Given the description of an element on the screen output the (x, y) to click on. 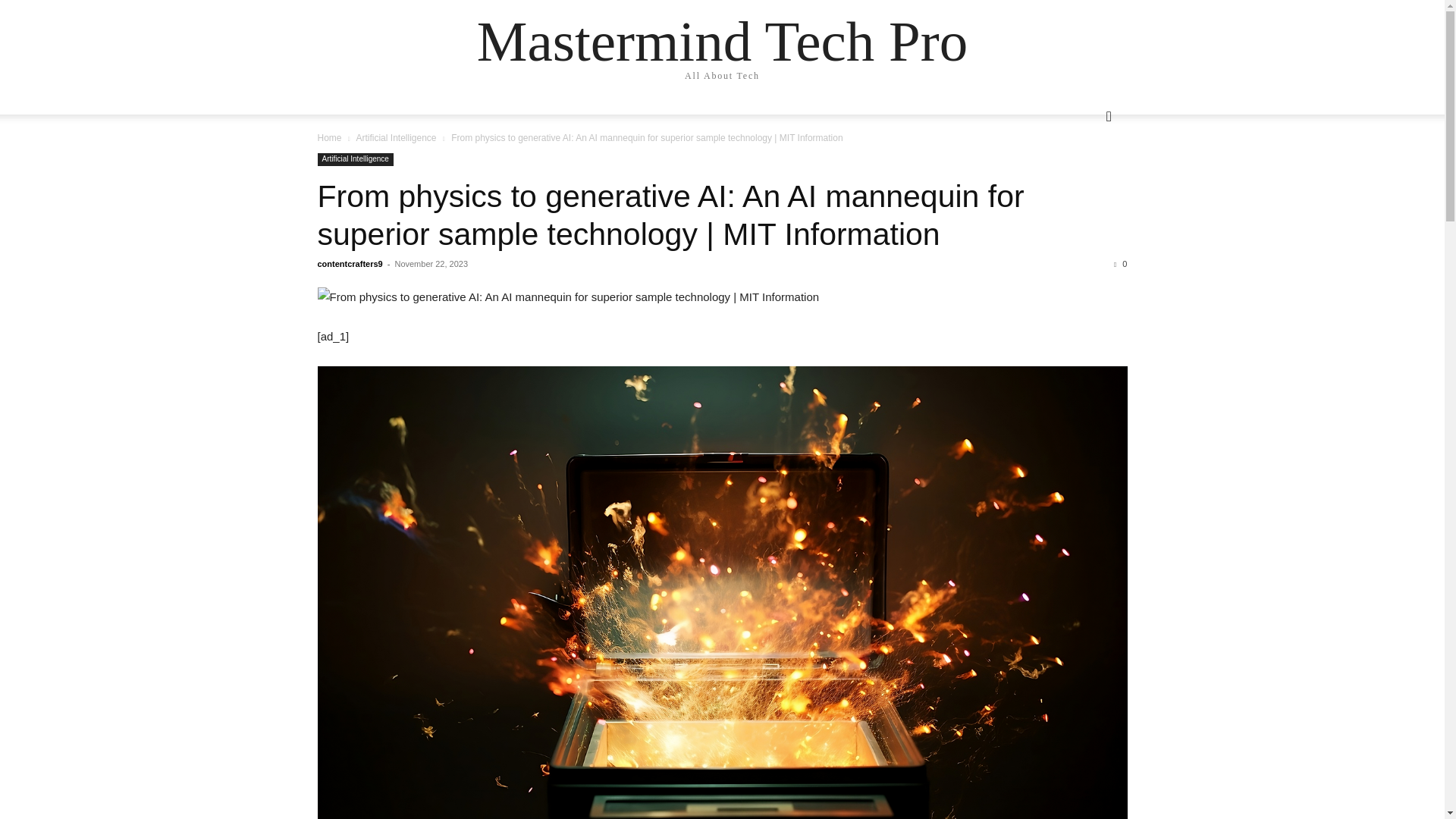
0 (1119, 263)
View all posts in Artificial Intelligence (395, 137)
Artificial Intelligence (395, 137)
Home (328, 137)
Artificial Intelligence (355, 159)
Search (1085, 177)
Mastermind Tech Pro (722, 41)
contentcrafters9 (349, 263)
